Given the description of an element on the screen output the (x, y) to click on. 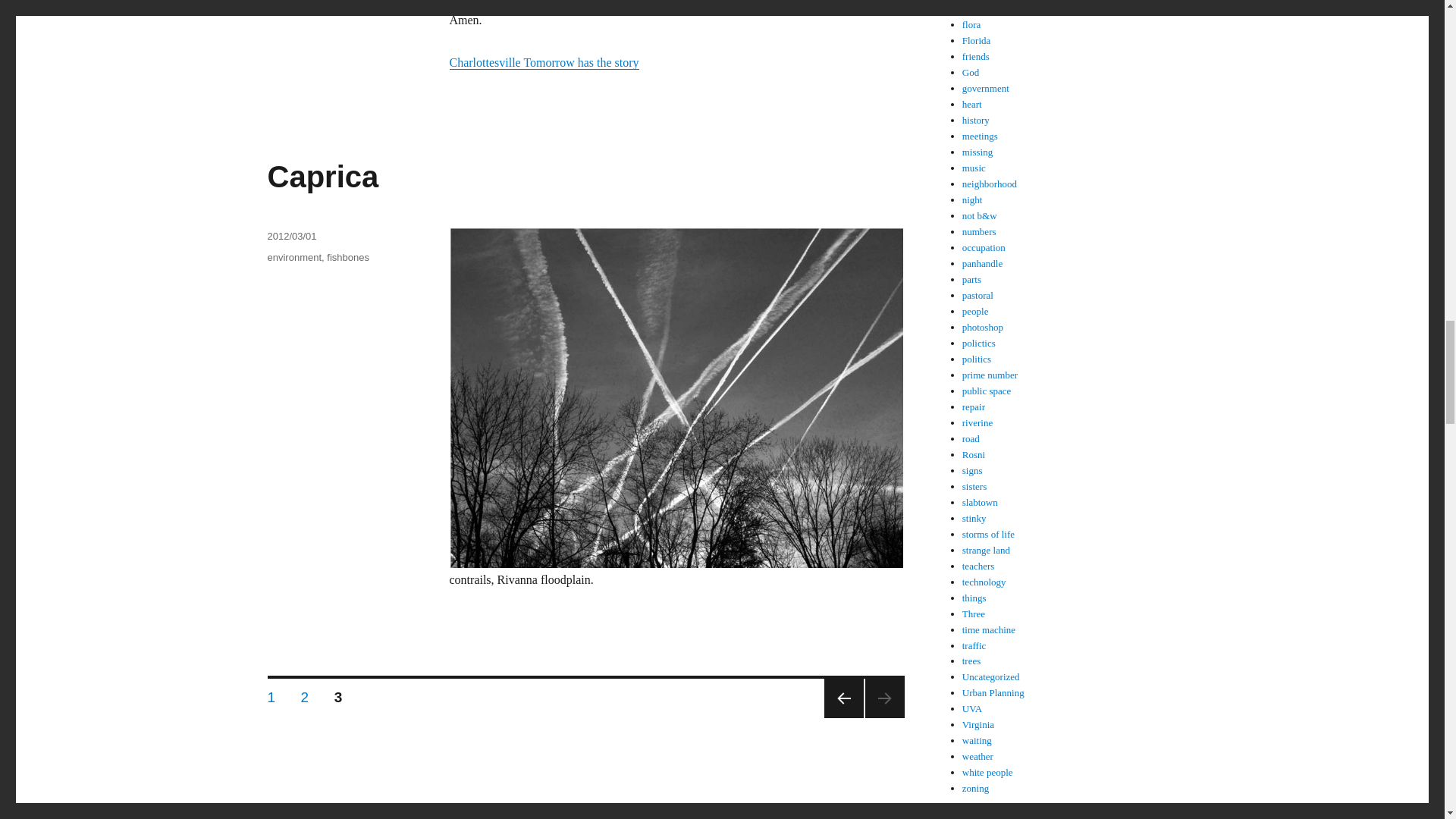
fishbones (347, 256)
Charlottesville Tomorrow has the story (271, 694)
environment (543, 62)
Caprica (304, 694)
PREVIOUS PAGE (293, 256)
